Given the description of an element on the screen output the (x, y) to click on. 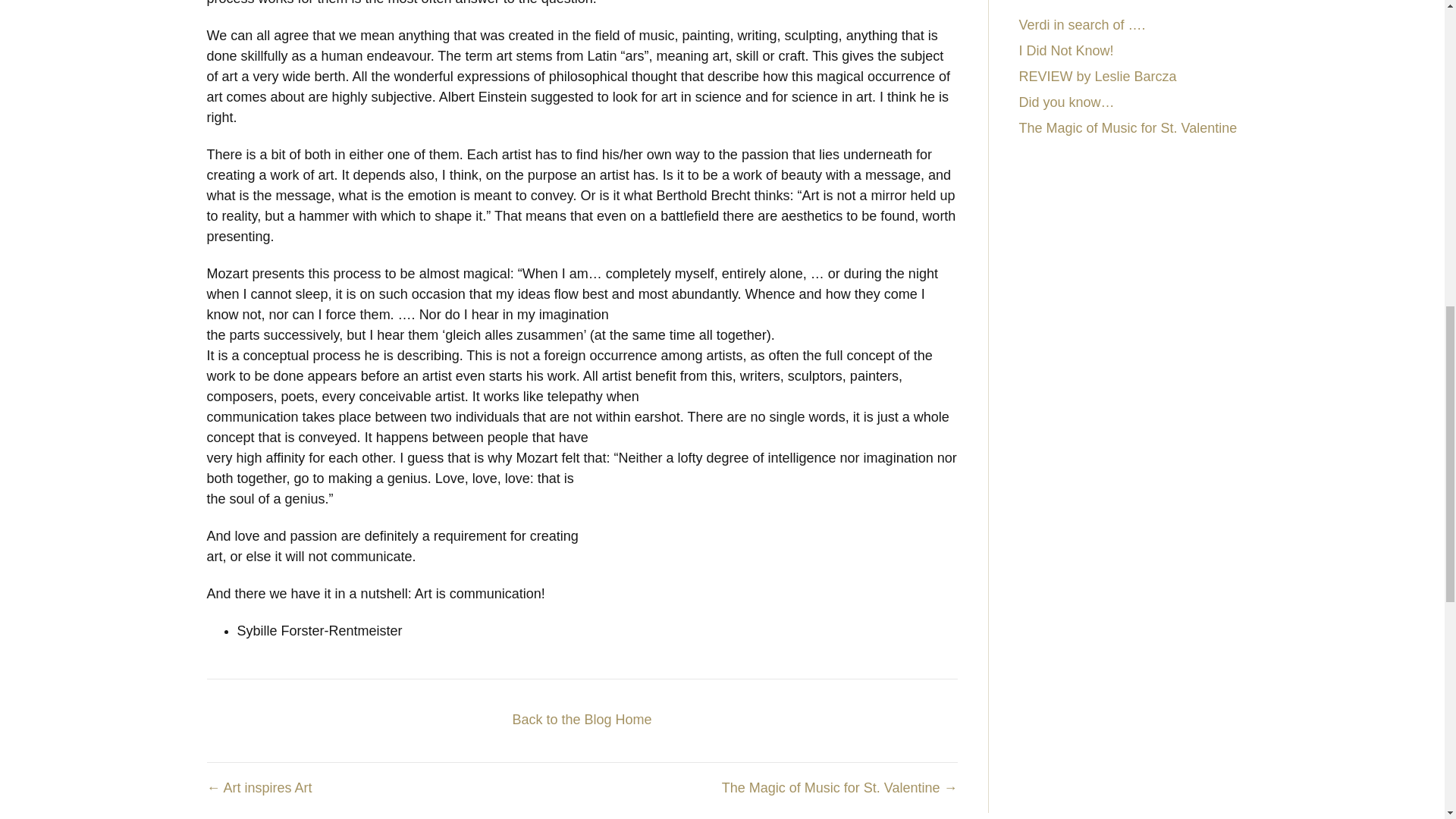
REVIEW by Leslie Barcza (1097, 76)
Back to the Blog Home (581, 719)
I Did Not Know! (1066, 50)
